Given the description of an element on the screen output the (x, y) to click on. 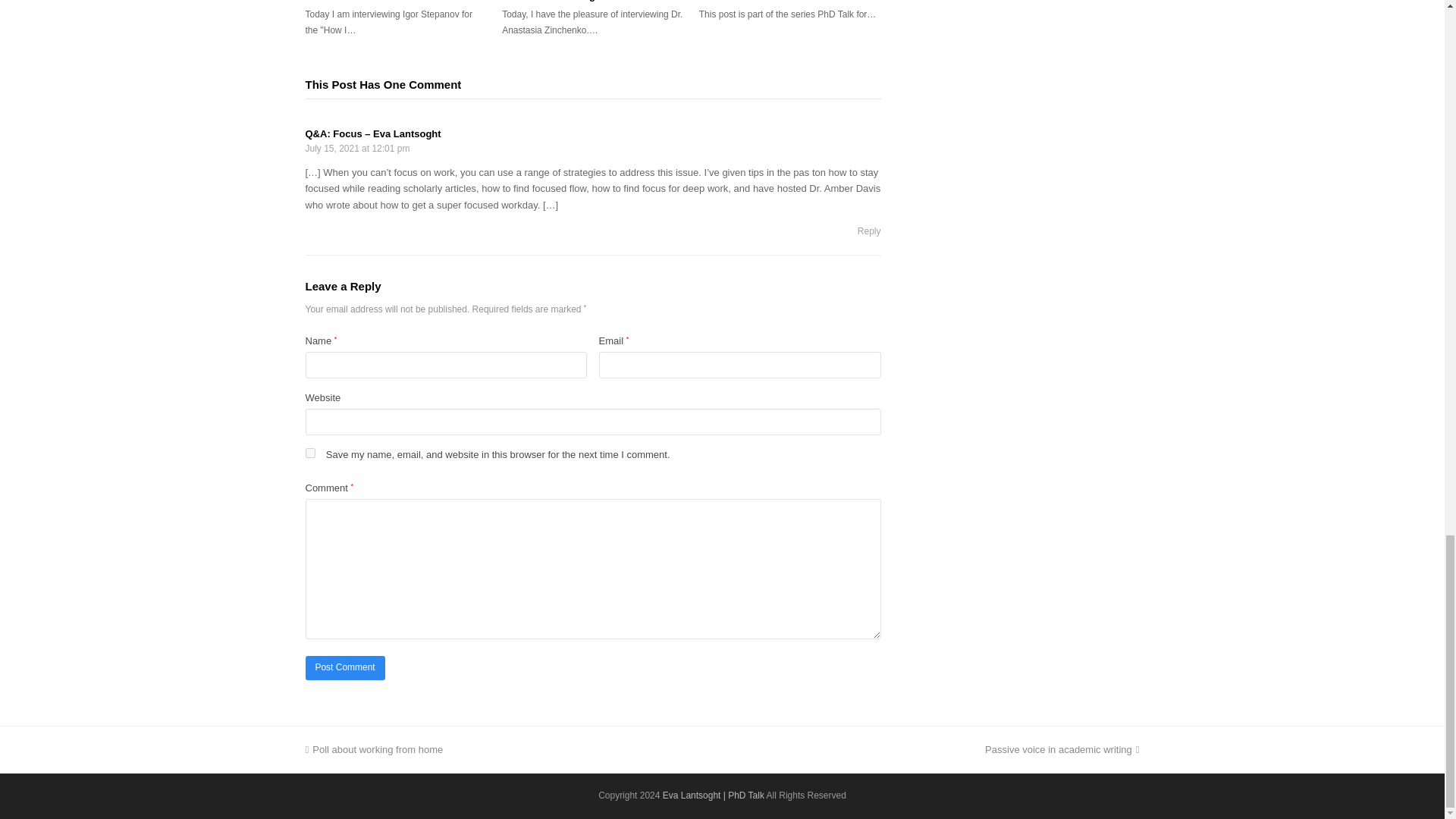
Post Comment (344, 668)
yes (309, 452)
